Given the description of an element on the screen output the (x, y) to click on. 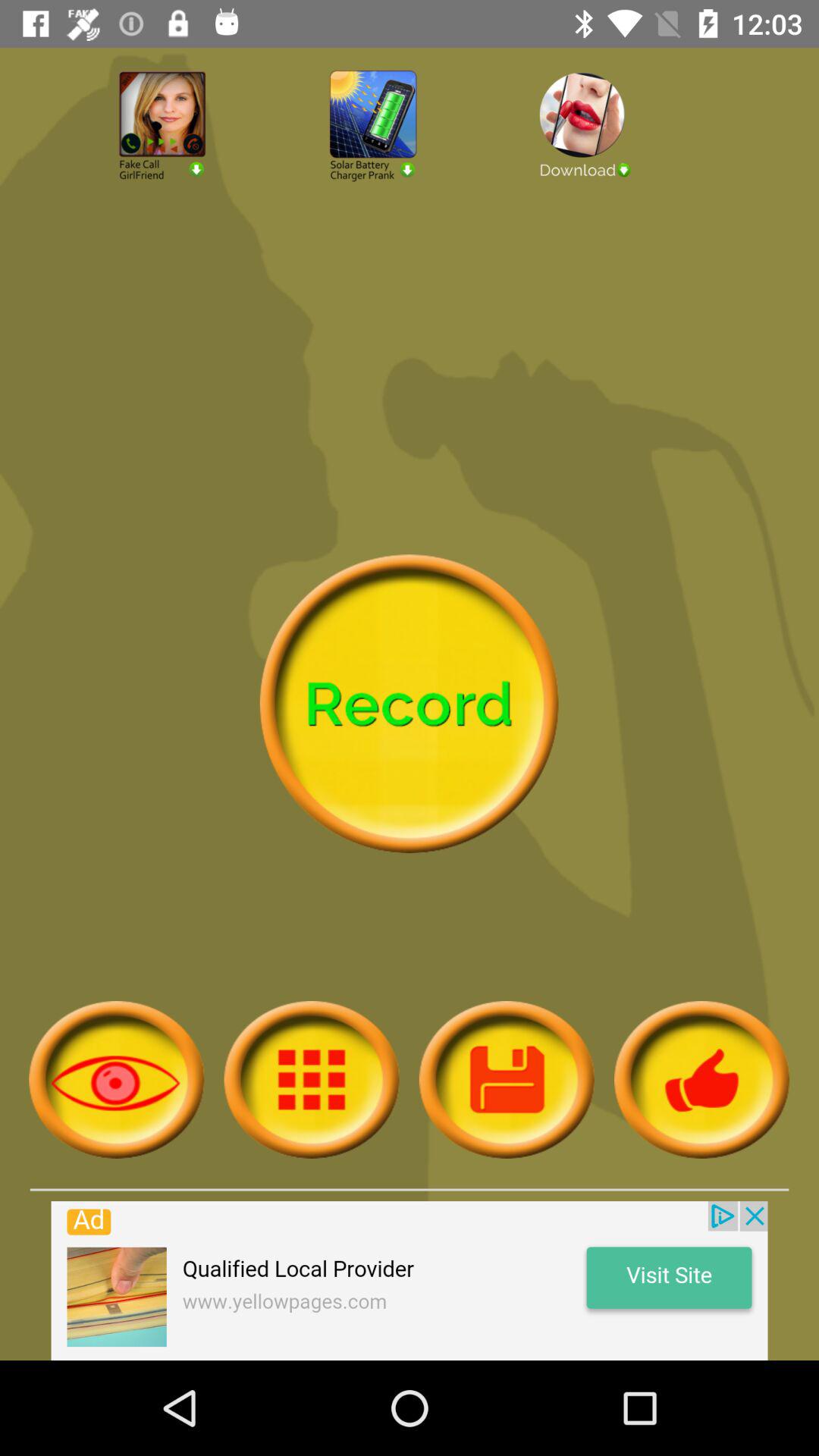
solar battery prank button (409, 166)
